Given the description of an element on the screen output the (x, y) to click on. 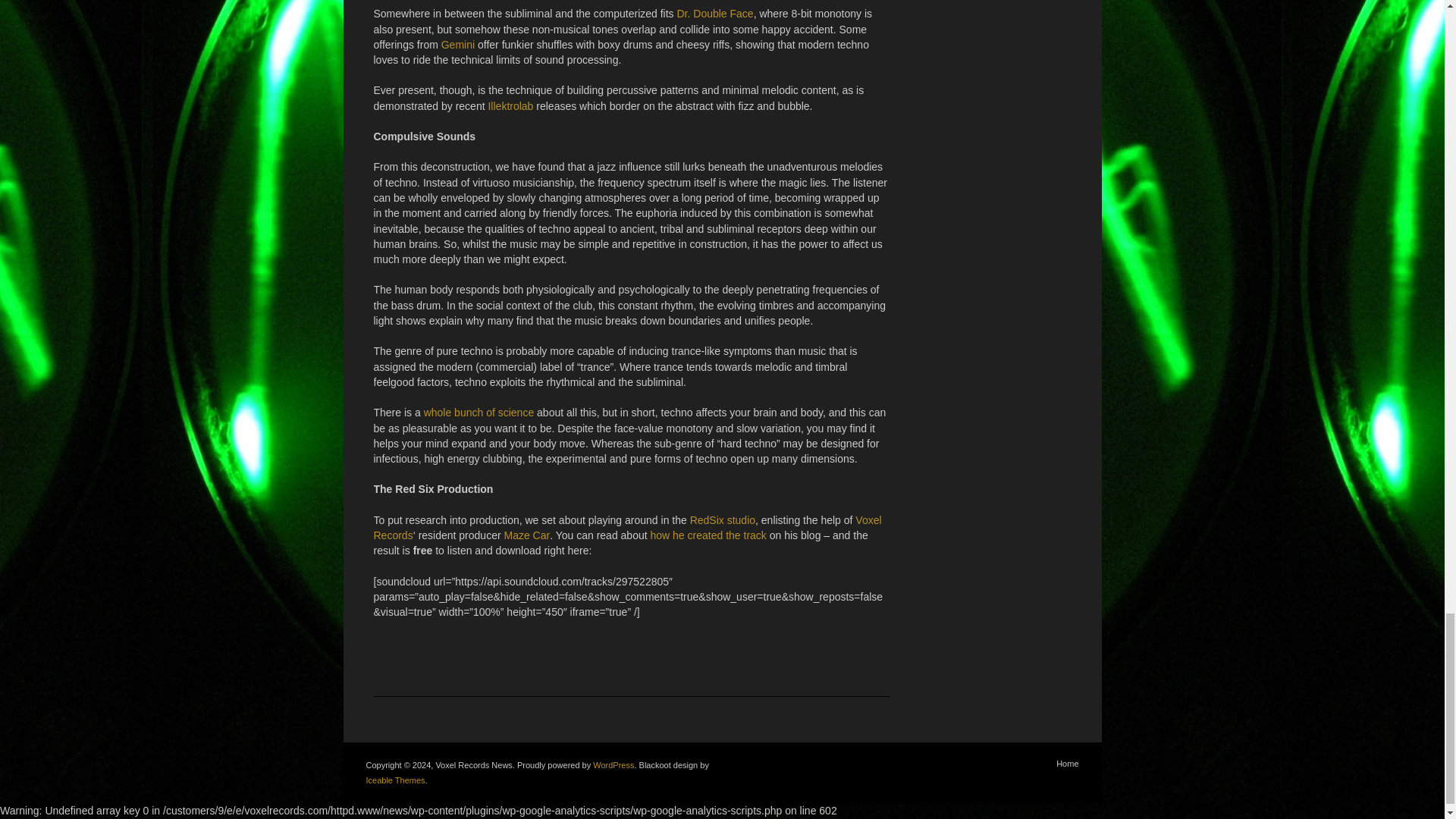
Free and Premium WordPress Themes (395, 779)
Semantic Personal Publishing Platform (612, 764)
